Given the description of an element on the screen output the (x, y) to click on. 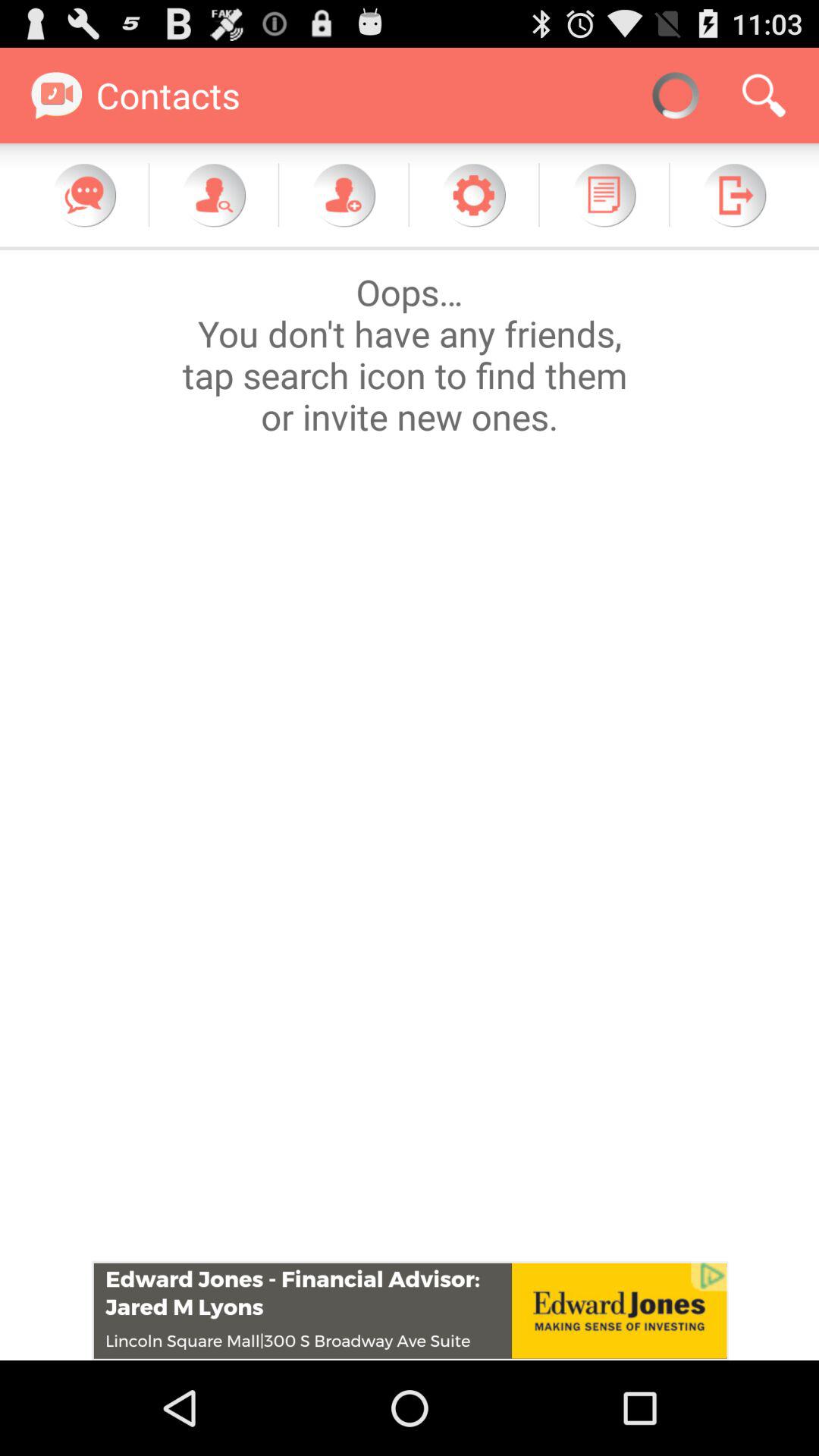
open notes (603, 194)
